Given the description of an element on the screen output the (x, y) to click on. 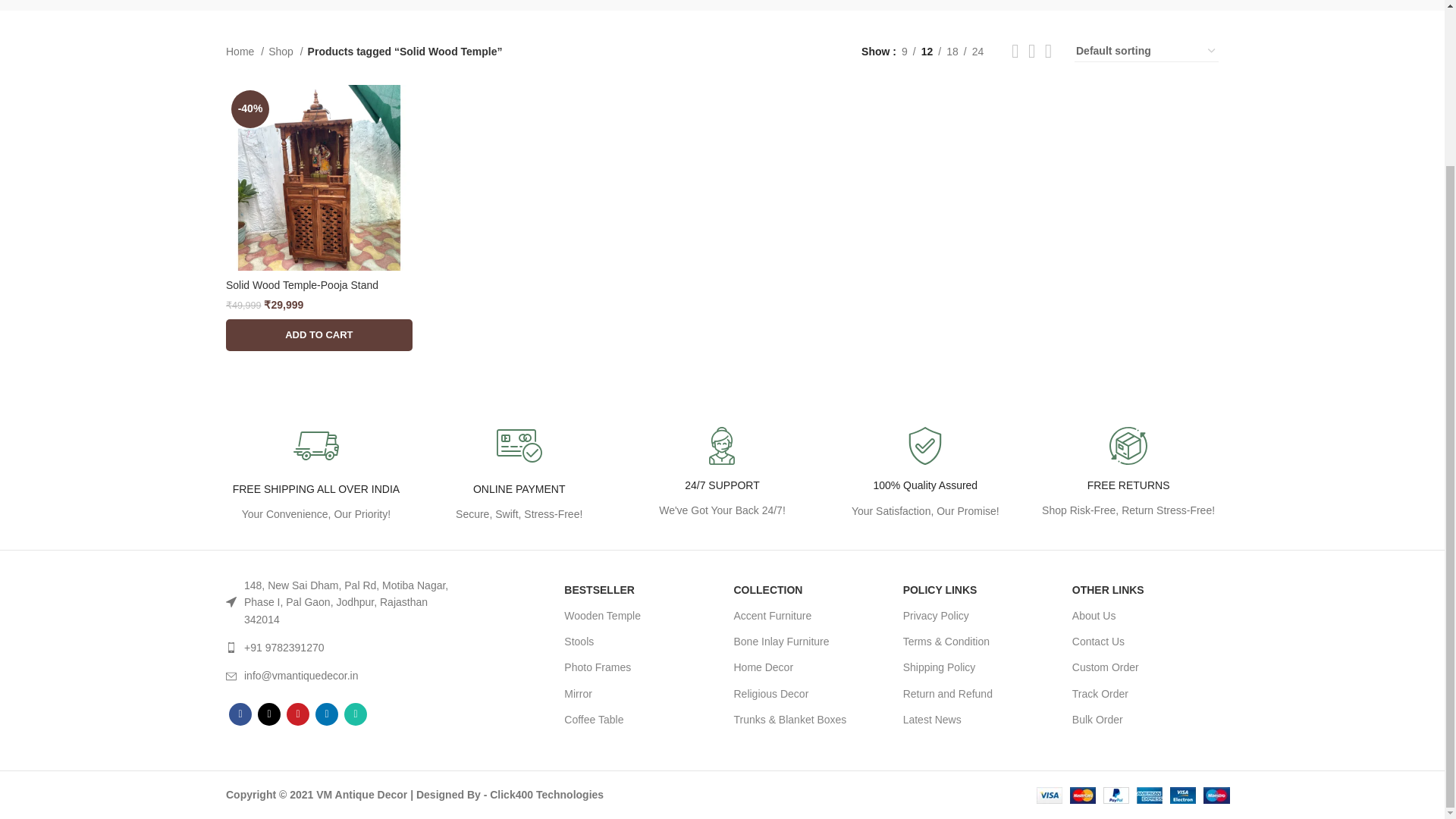
wd-phone-dark (230, 647)
wd-envelope-dark (230, 675)
wd-cursor-dark (230, 602)
